Given the description of an element on the screen output the (x, y) to click on. 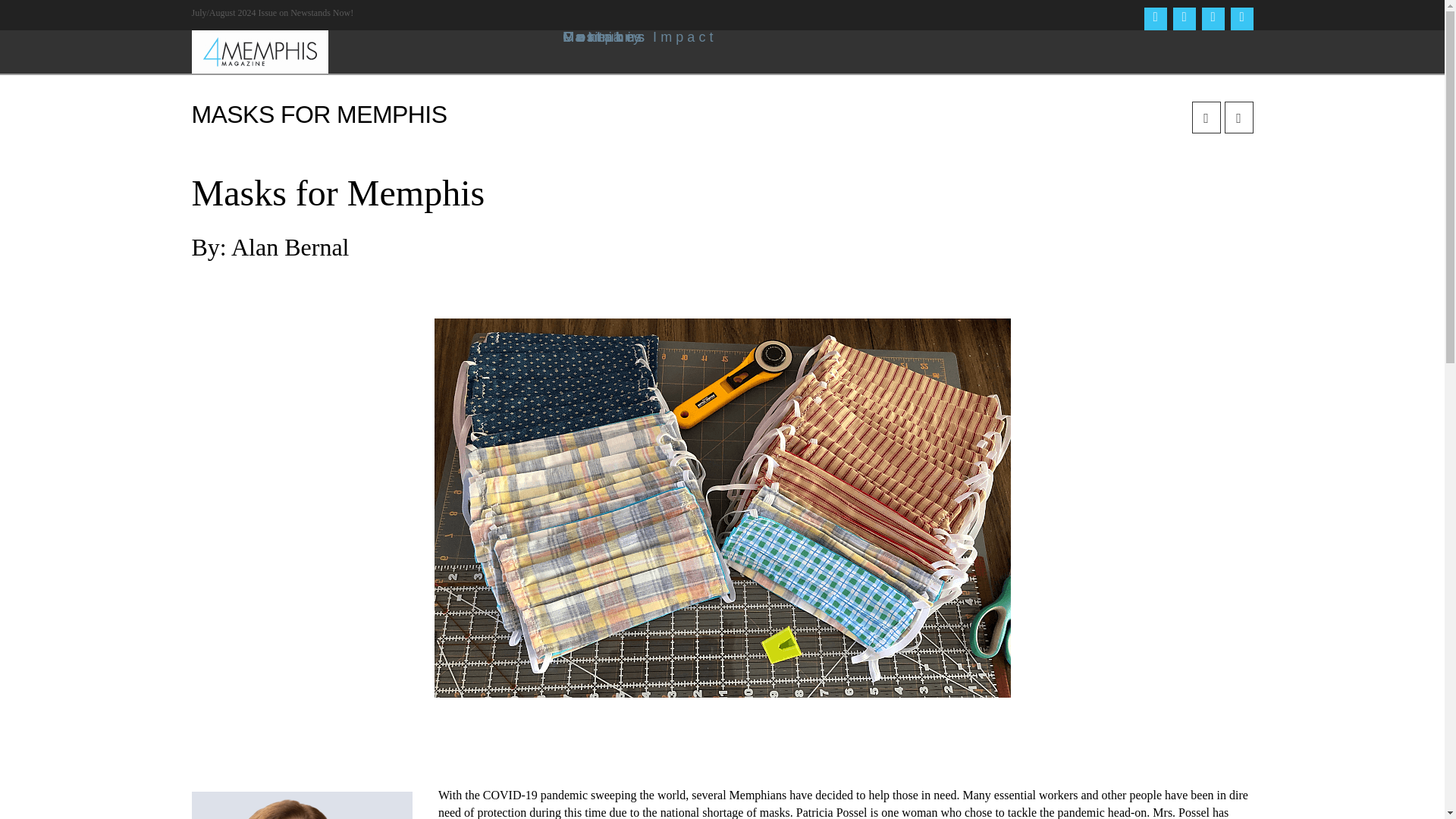
Pinterest (1241, 18)
Instagram (1212, 18)
Facebook (1154, 18)
Twitter (1183, 18)
